Given the description of an element on the screen output the (x, y) to click on. 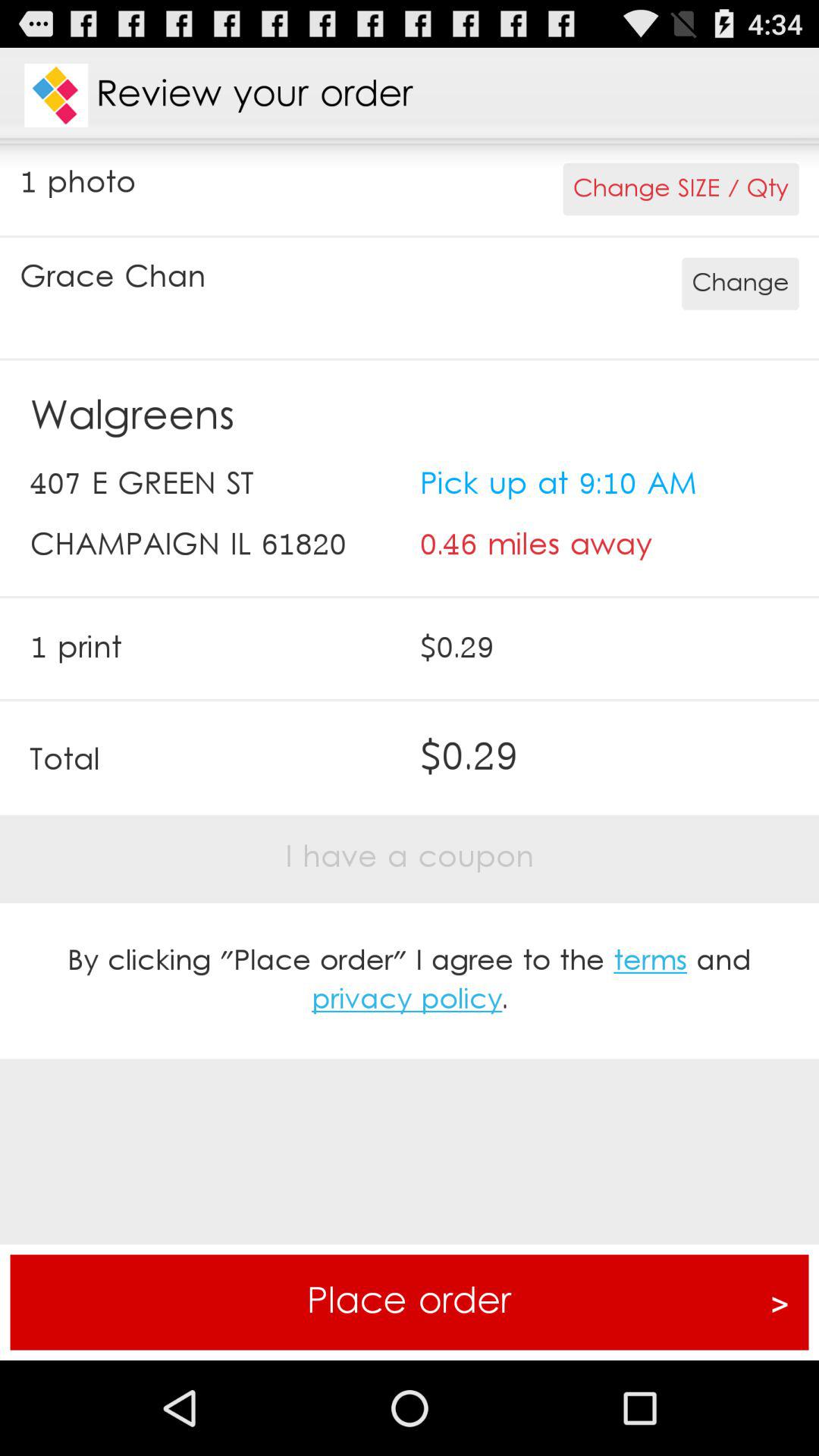
launch the change size / qty item (681, 189)
